Given the description of an element on the screen output the (x, y) to click on. 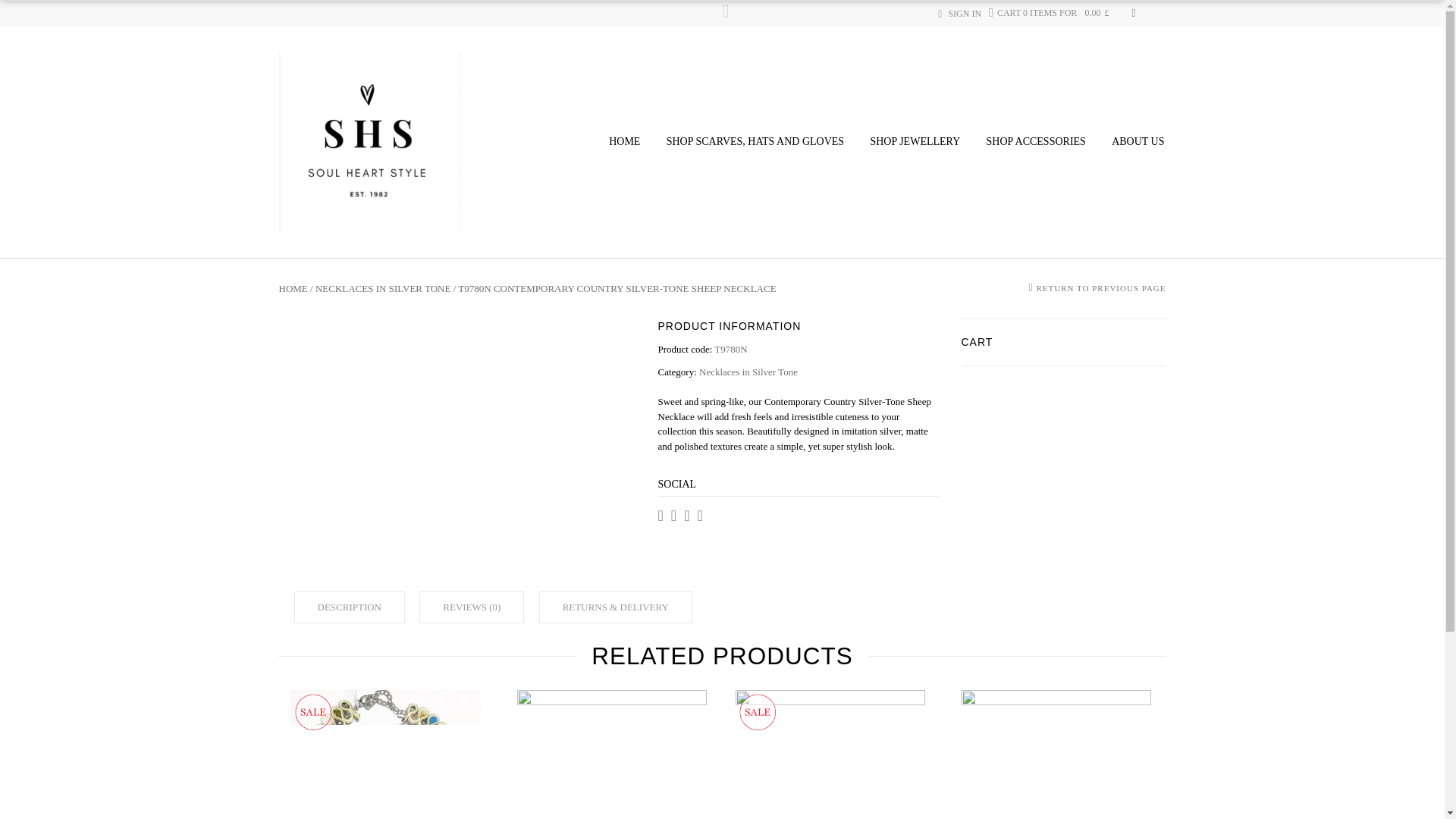
ABOUT US (1137, 141)
SHOP SCARVES, HATS AND GLOVES (754, 141)
HOME (624, 141)
SIGN IN (964, 13)
SHOP JEWELLERY (914, 141)
SHOP ACCESSORIES (1035, 141)
